Given the description of an element on the screen output the (x, y) to click on. 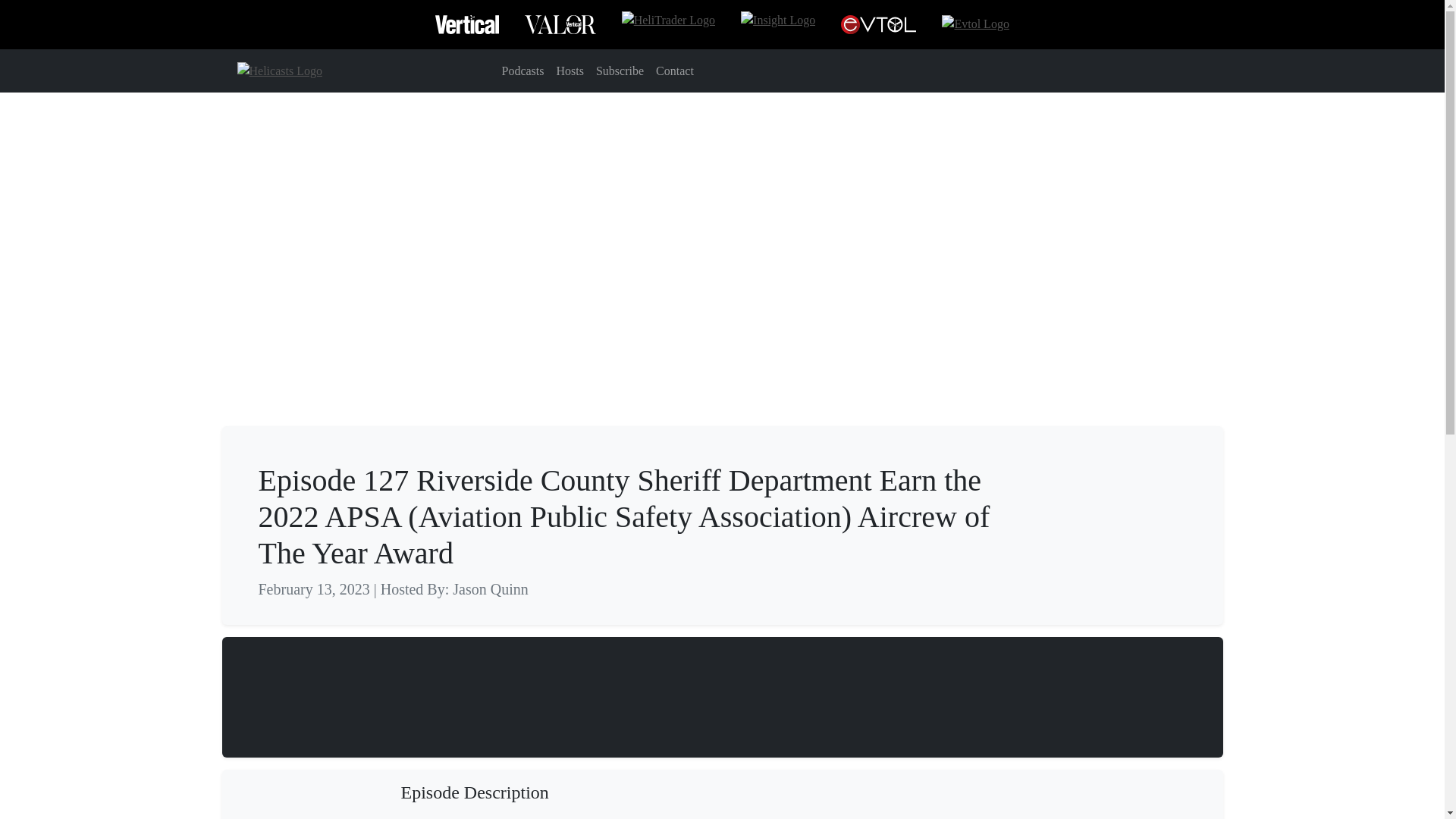
Contact (674, 71)
Subscribe (619, 71)
Podcasts (523, 71)
Hosts (569, 71)
